Given the description of an element on the screen output the (x, y) to click on. 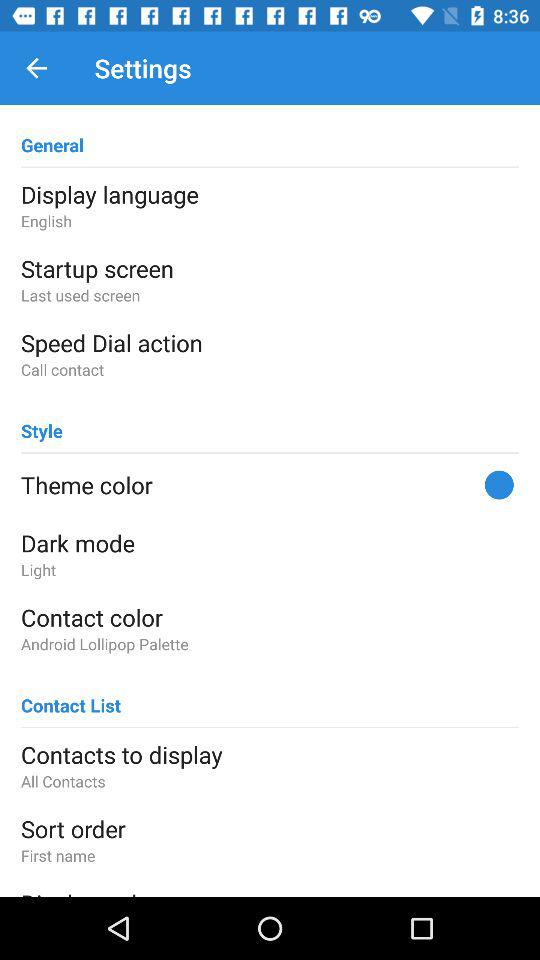
launch the item above the first name (270, 828)
